Given the description of an element on the screen output the (x, y) to click on. 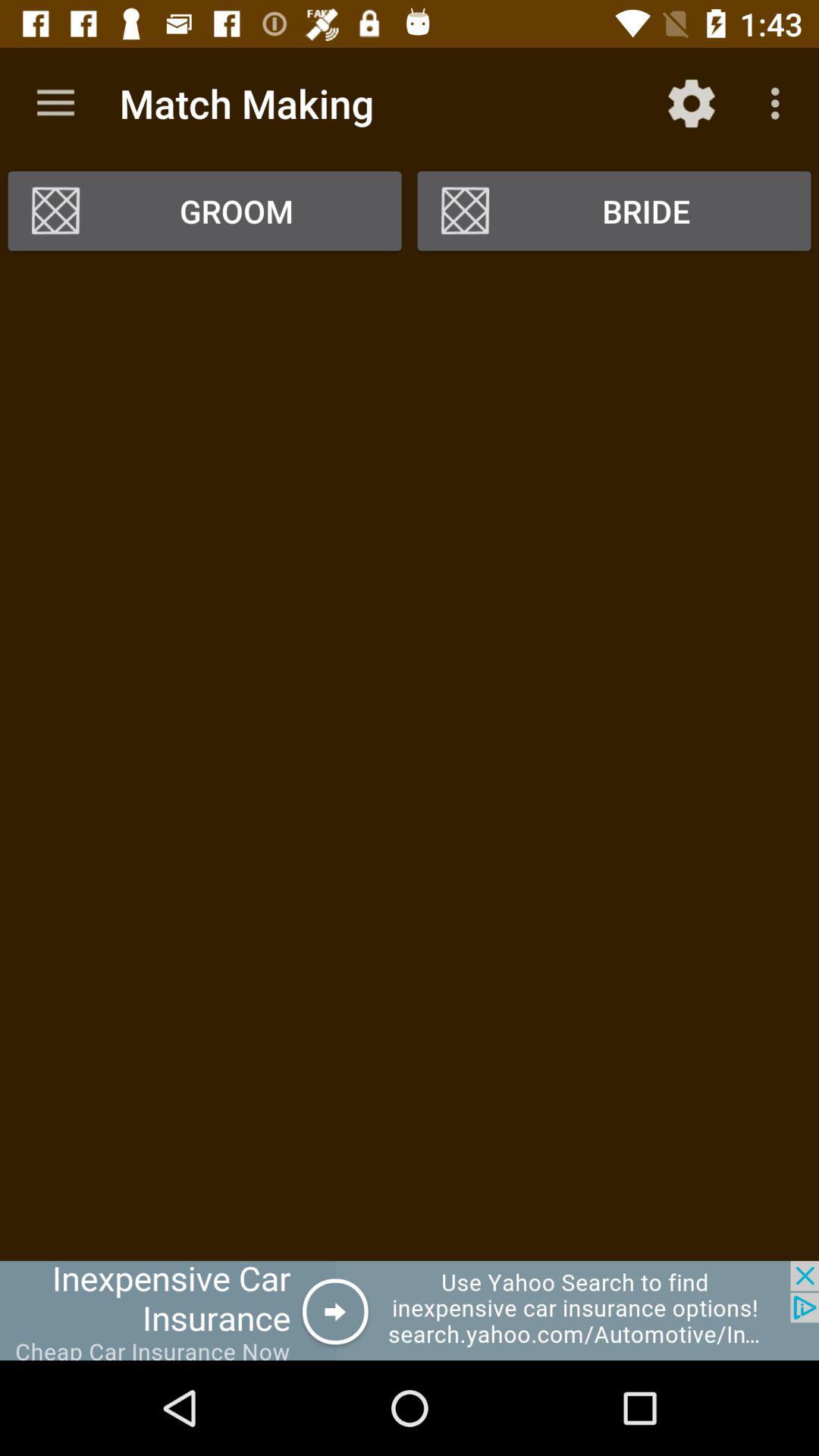
open advertisement (409, 1310)
